Given the description of an element on the screen output the (x, y) to click on. 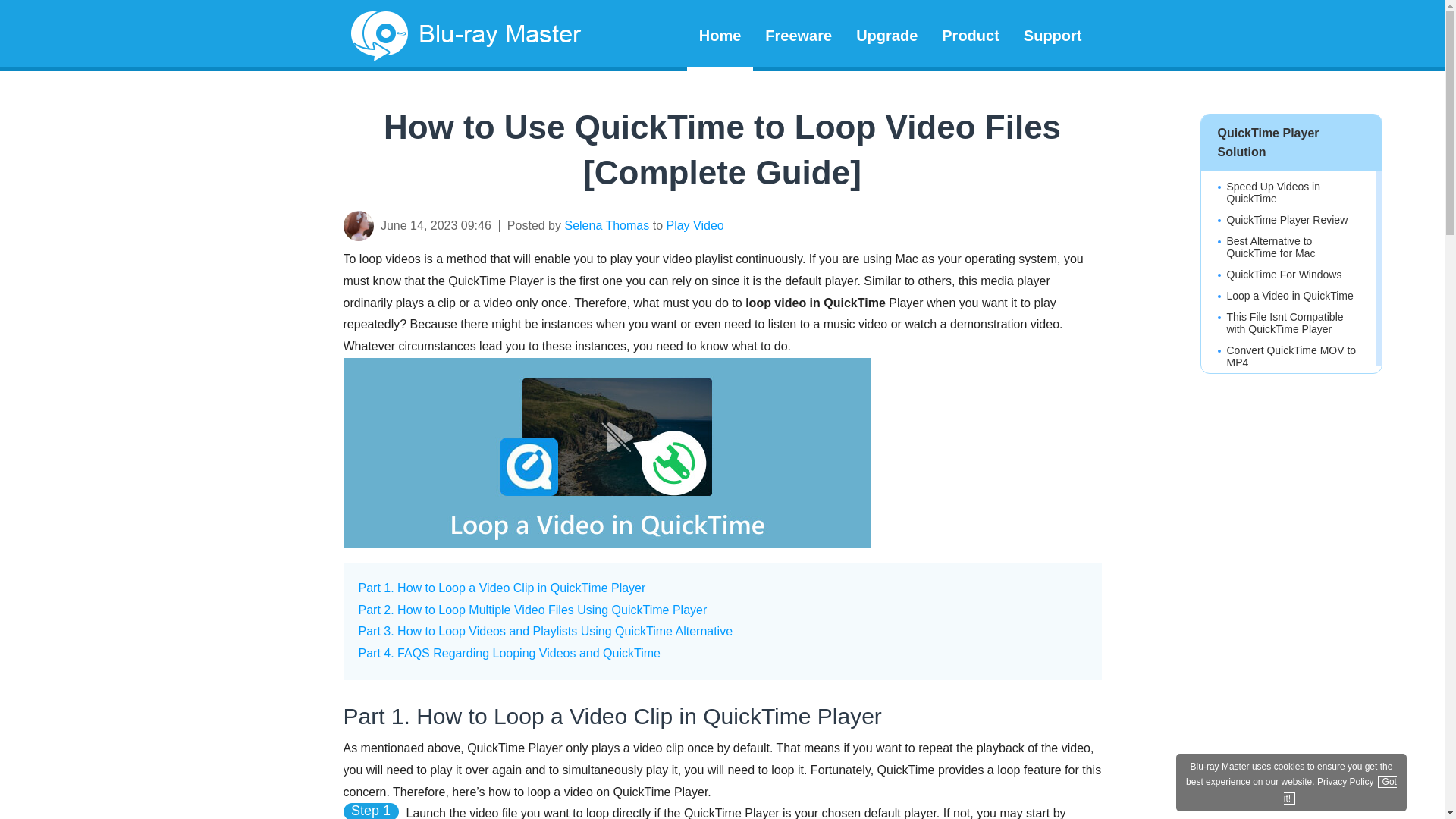
Upgrade (887, 33)
Selena Thomas (606, 225)
Part 1. How to Loop a Video Clip in QuickTime Player (501, 587)
Part 4. FAQS Regarding Looping Videos and QuickTime (508, 653)
Product (970, 33)
Play Video (694, 225)
Freeware (798, 33)
Support (1052, 33)
Home (720, 33)
